Given the description of an element on the screen output the (x, y) to click on. 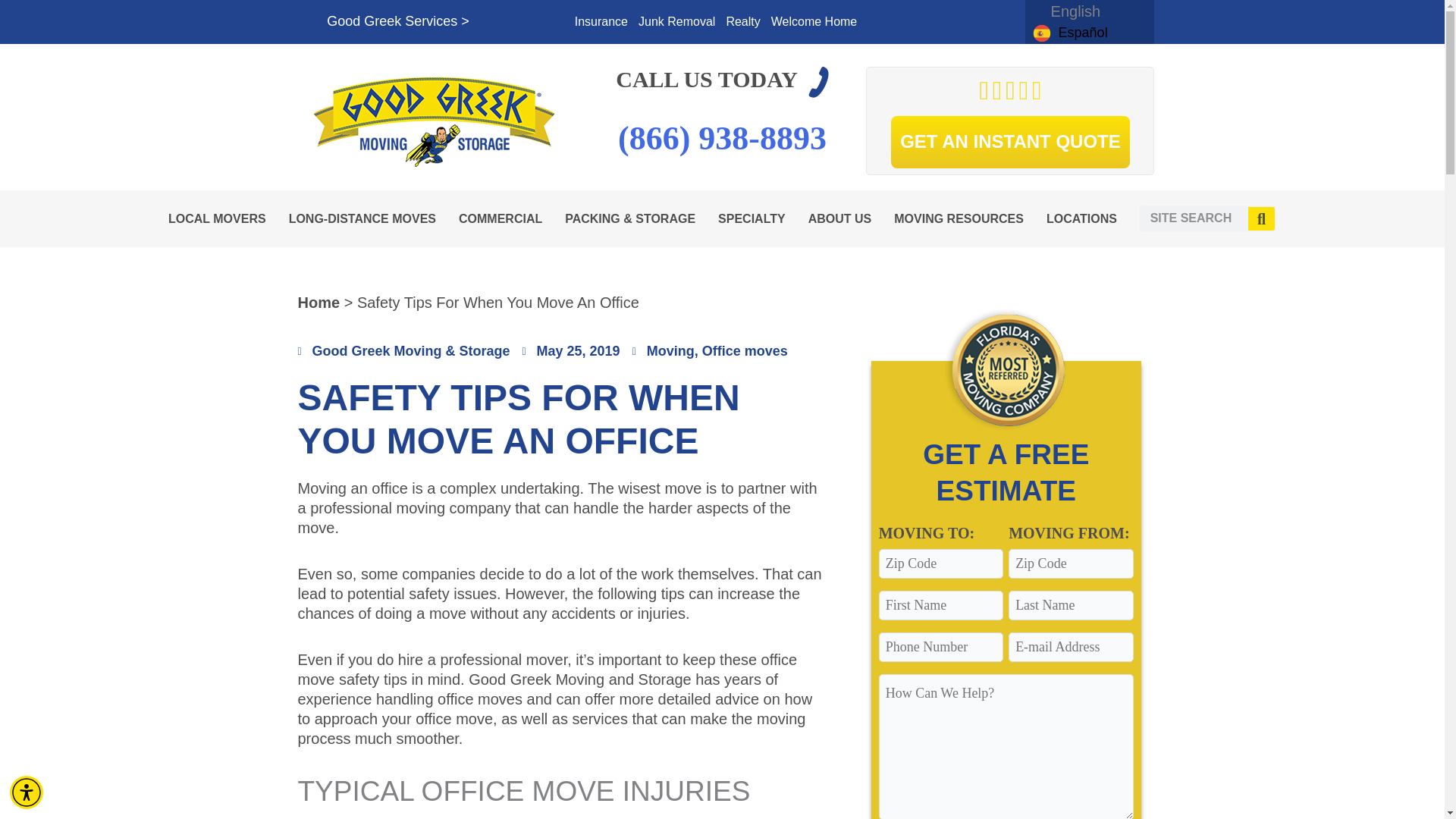
Insurance (601, 22)
LONG-DISTANCE MOVES (366, 218)
Welcome Home (814, 22)
Junk Removal (676, 22)
Accessibility Menu (26, 792)
Language switcher : Spanish (1070, 32)
LOCAL MOVERS (220, 218)
GET AN INSTANT QUOTE (1010, 142)
Realty (742, 22)
